Given the description of an element on the screen output the (x, y) to click on. 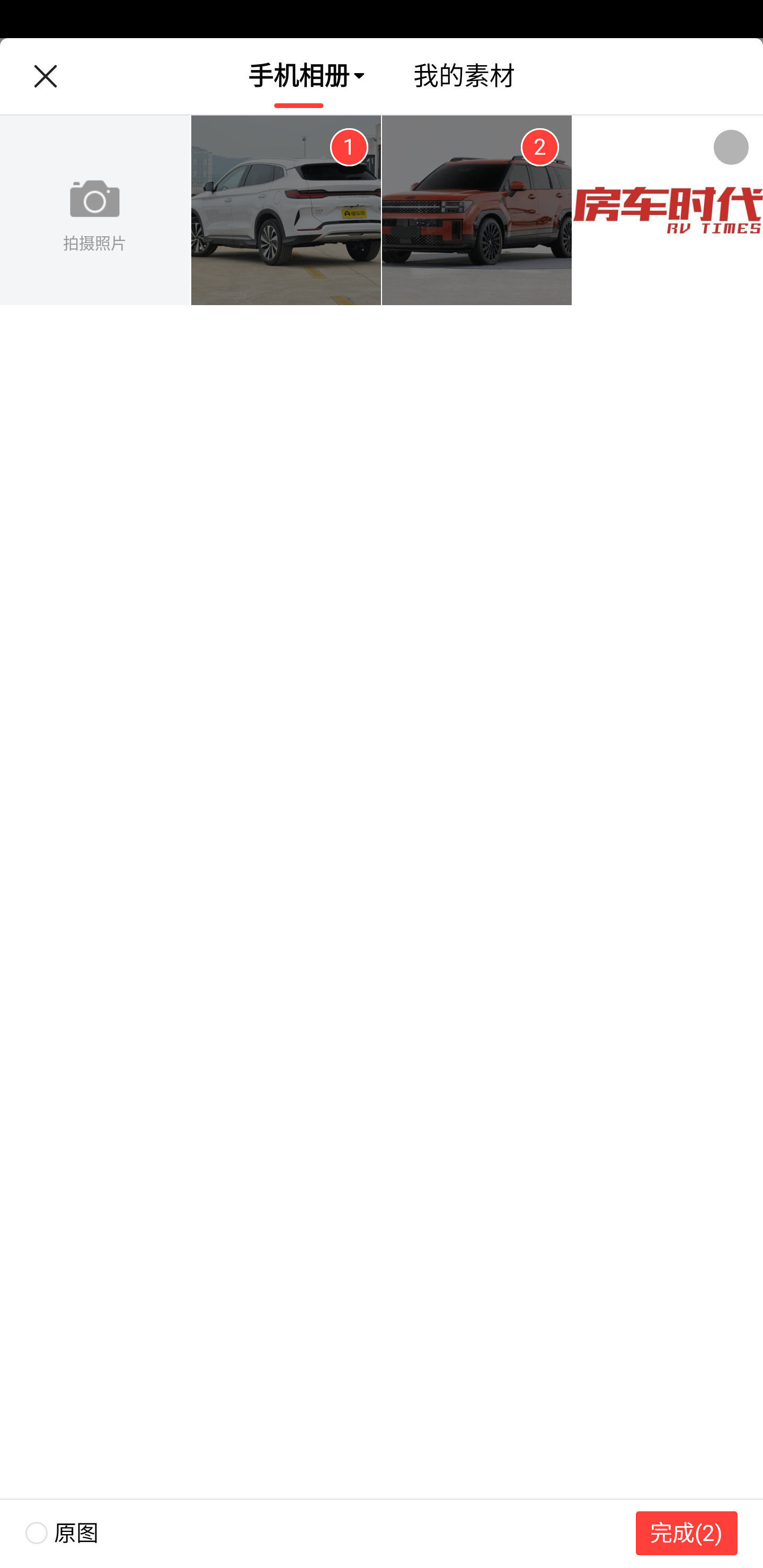
返回 (44, 75)
手机相册 (298, 75)
我的素材 (464, 75)
拍摄照片 (94, 210)
图片1 (285, 210)
已选中1 1 (348, 147)
图片2 (476, 210)
已选中2 2 (539, 147)
图片3 (668, 210)
未选中 (731, 147)
原图 (49, 1533)
完成(2) 完成 (2) (686, 1533)
